Given the description of an element on the screen output the (x, y) to click on. 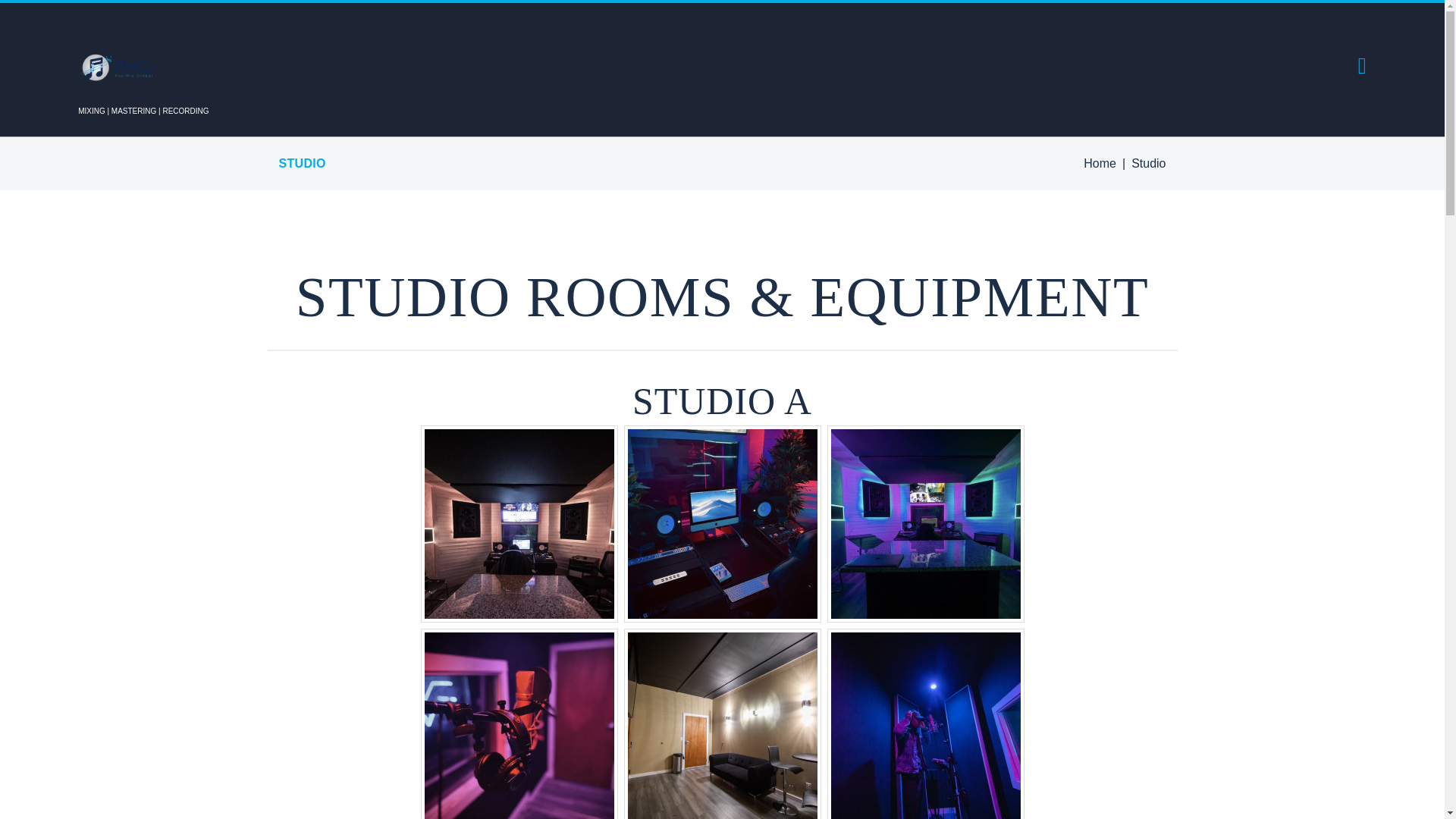
Home (1099, 163)
